Given the description of an element on the screen output the (x, y) to click on. 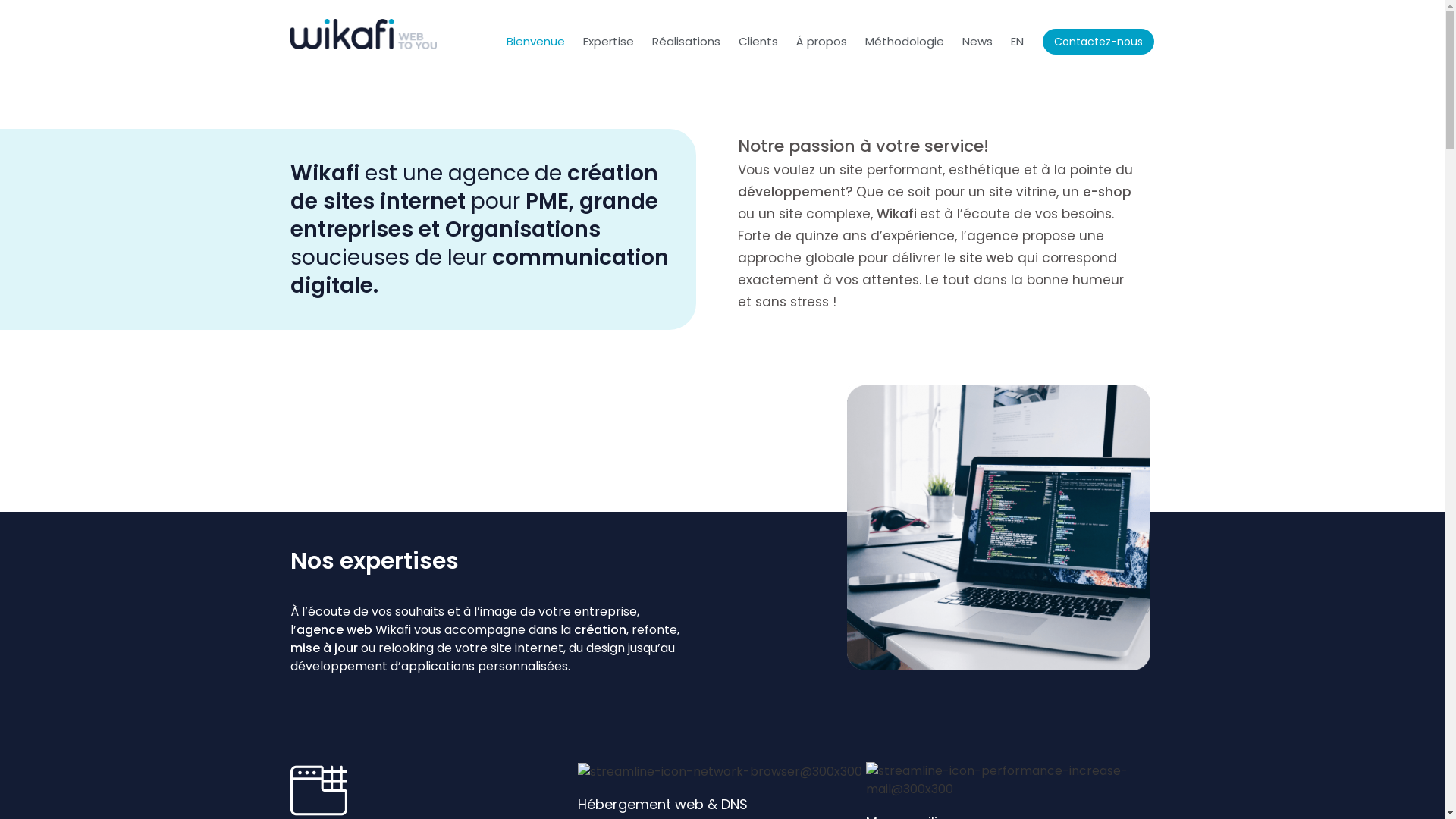
Expertise Element type: text (608, 41)
News Element type: text (977, 41)
EN Element type: text (1016, 41)
Bienvenue Element type: text (535, 41)
Clients Element type: text (758, 41)
img-expertises Element type: hover (997, 527)
Contactez-nous Element type: text (1098, 41)
